Given the description of an element on the screen output the (x, y) to click on. 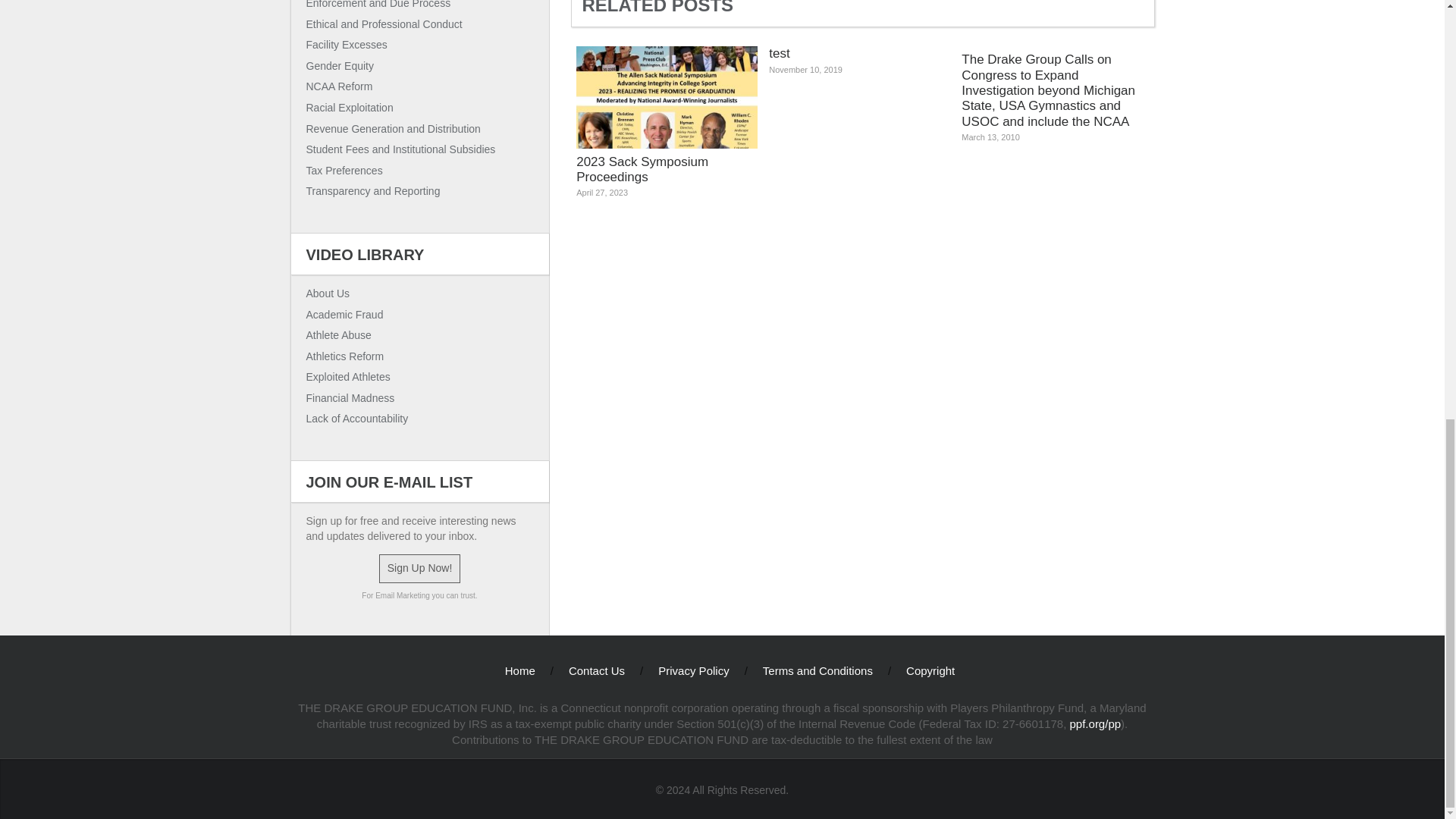
Permanent Link to: test (859, 65)
Permanent Link to: 2023 Sack Symposium Proceedings (666, 127)
